Given the description of an element on the screen output the (x, y) to click on. 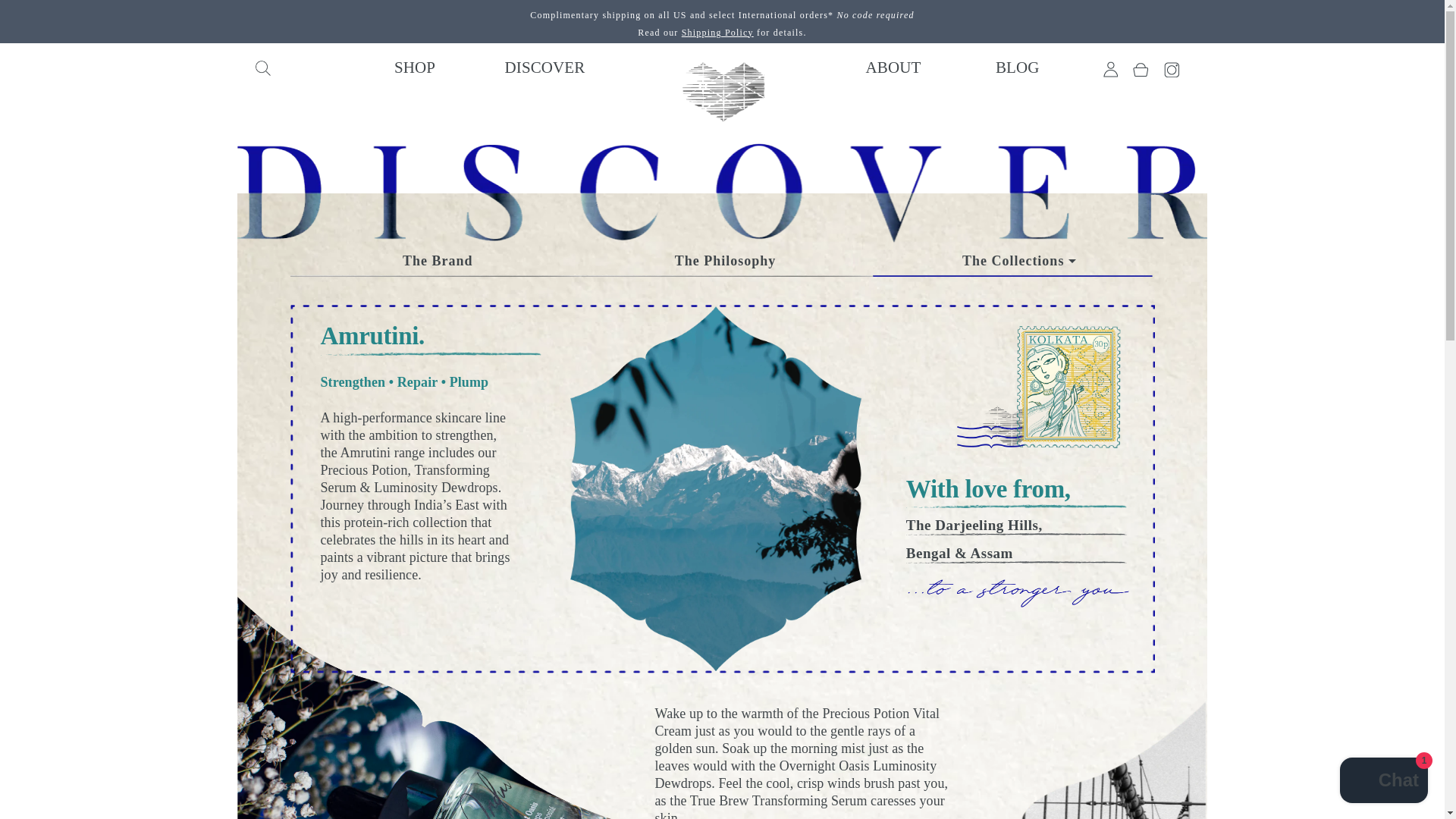
BLOG (1017, 68)
Shopify online store chat (1383, 781)
DISCOVER (515, 68)
The Brand (433, 260)
ABOUT (920, 68)
The Collections (1012, 264)
Shipping Policy (717, 32)
The Philosophy (725, 260)
SHOP (384, 68)
